Given the description of an element on the screen output the (x, y) to click on. 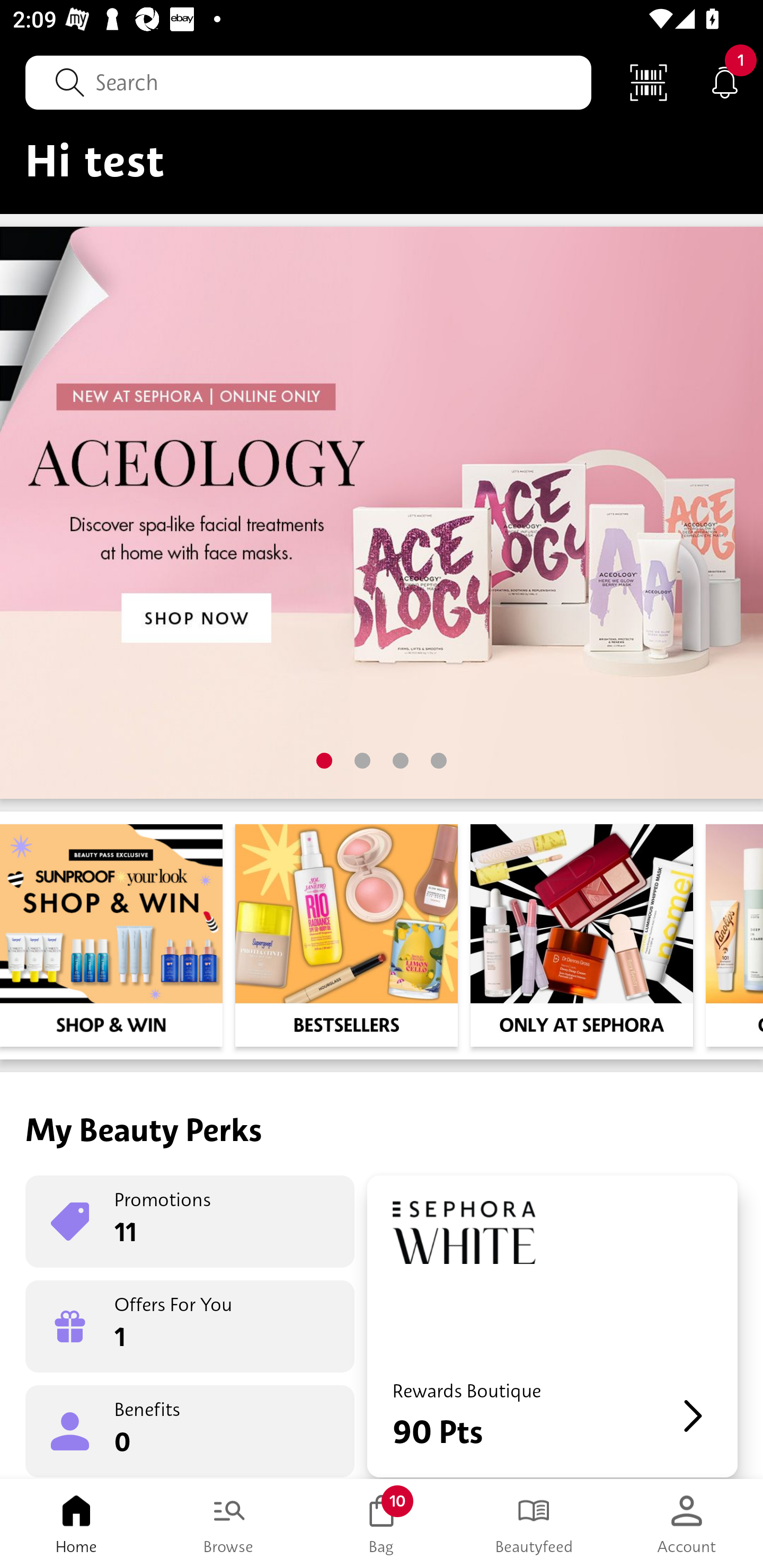
Scan Code (648, 81)
Notifications (724, 81)
Search (308, 81)
Promotions 11 (189, 1221)
Rewards Boutique 90 Pts (552, 1326)
Offers For You 1 (189, 1326)
Benefits 0 (189, 1430)
Browse (228, 1523)
Bag 10 Bag (381, 1523)
Beautyfeed (533, 1523)
Account (686, 1523)
